Given the description of an element on the screen output the (x, y) to click on. 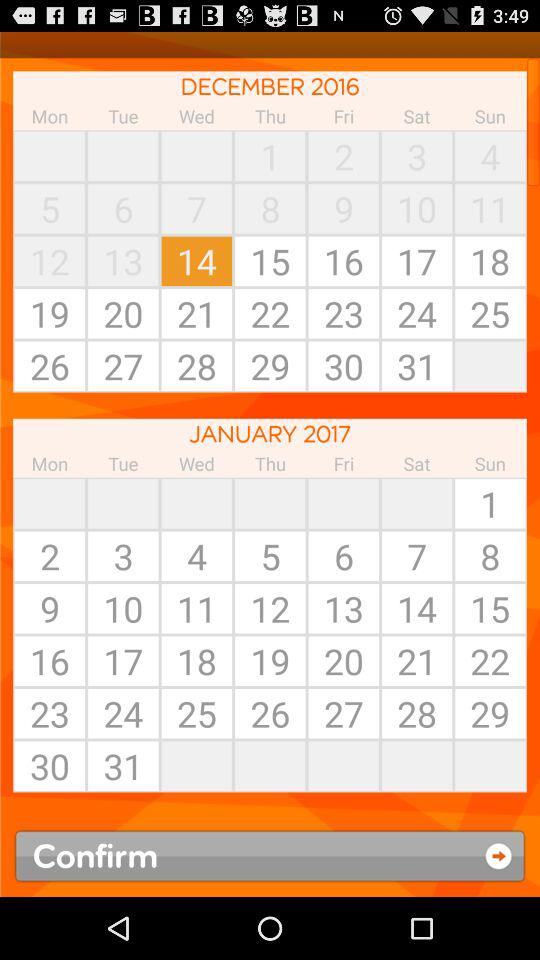
open item below the 25 icon (270, 765)
